Given the description of an element on the screen output the (x, y) to click on. 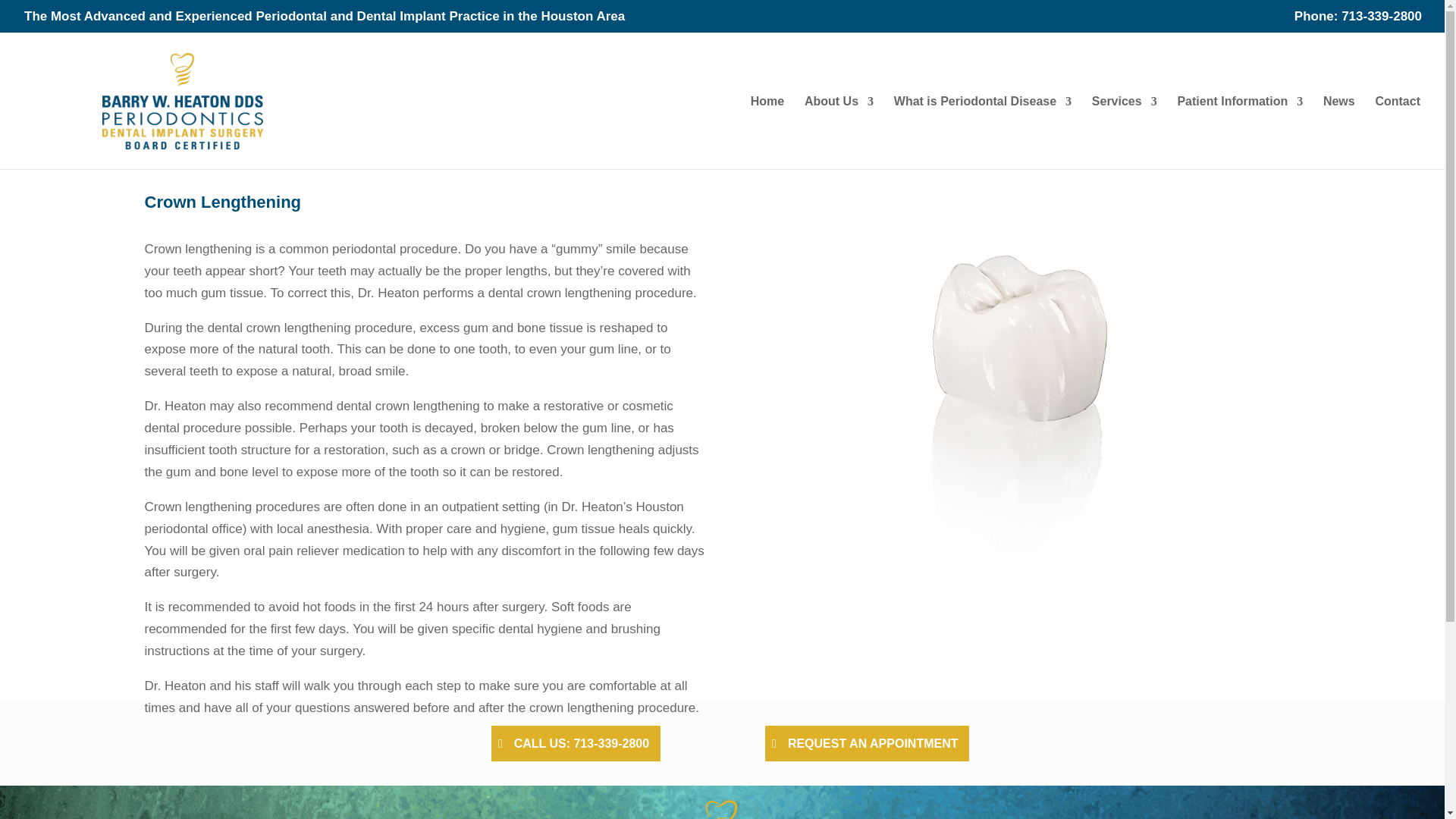
Services (1124, 131)
About Us (839, 131)
What is Periodontal Disease (982, 131)
Phone: 713-339-2800 (1358, 20)
Patient Information (1239, 131)
